Given the description of an element on the screen output the (x, y) to click on. 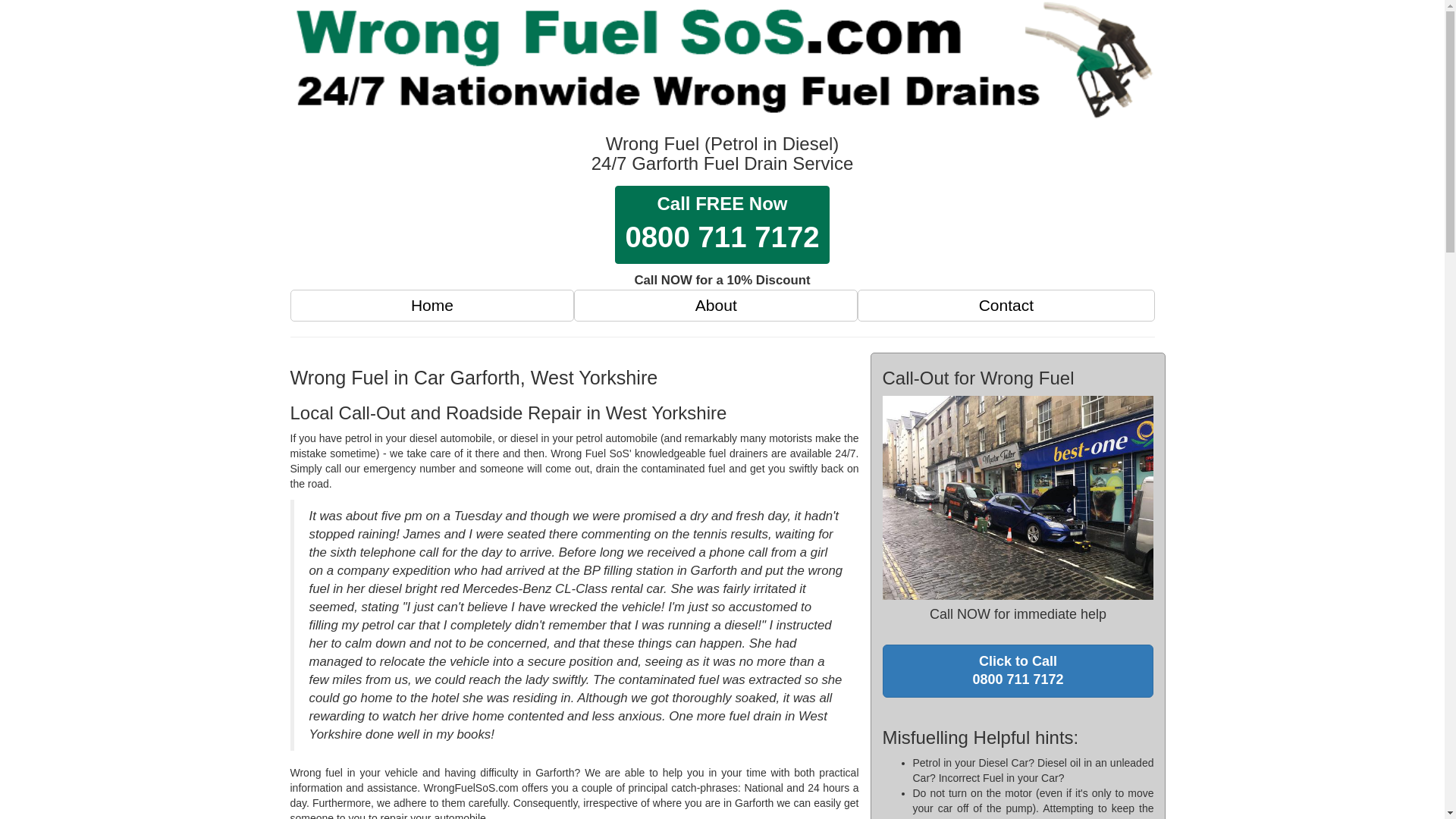
About (716, 305)
Contact (721, 224)
Home (1006, 305)
